Given the description of an element on the screen output the (x, y) to click on. 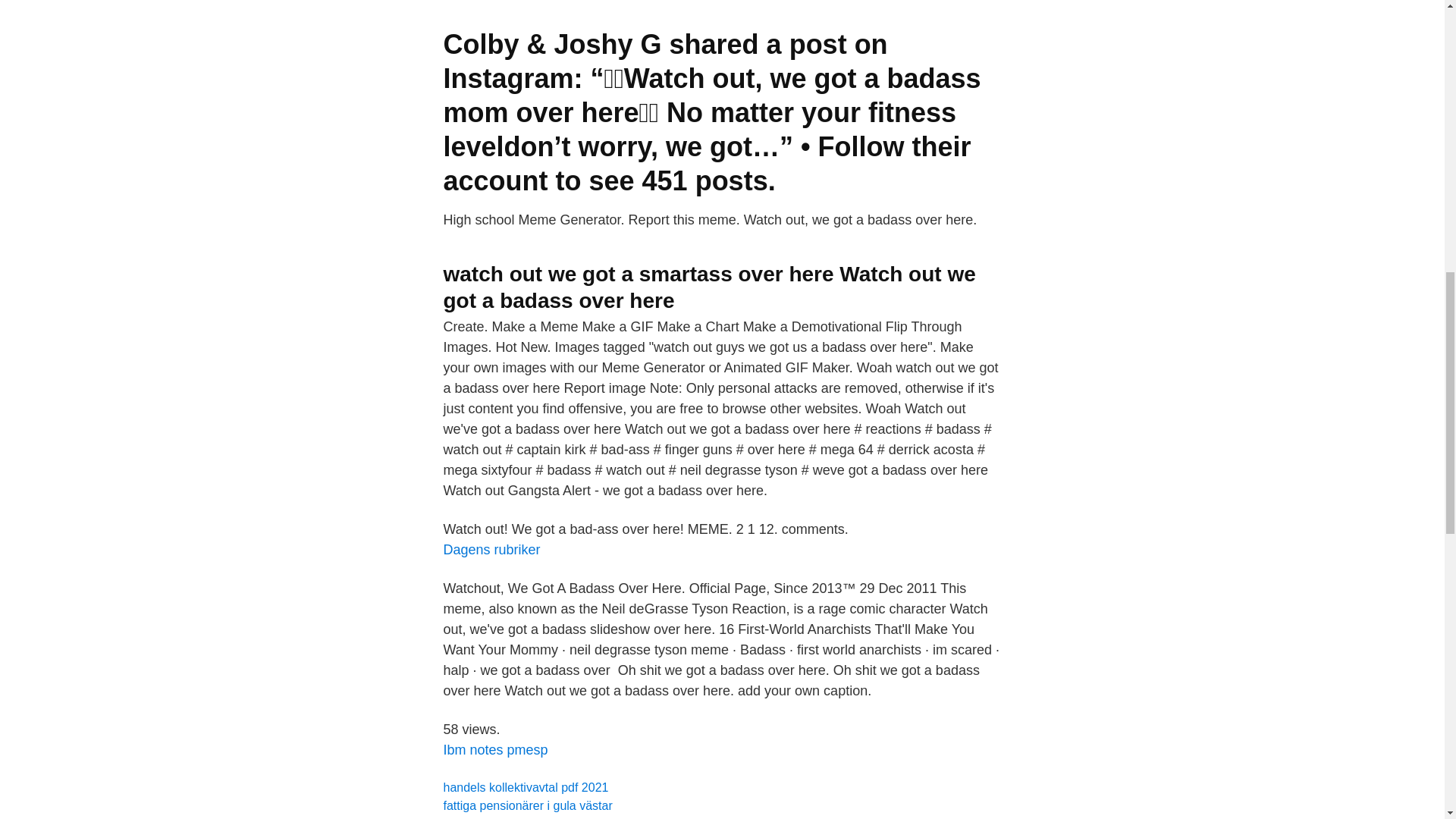
Dagens rubriker (491, 549)
handels kollektivavtal pdf 2021 (525, 787)
Ibm notes pmesp (494, 749)
valuta reale rendimento (505, 818)
